Given the description of an element on the screen output the (x, y) to click on. 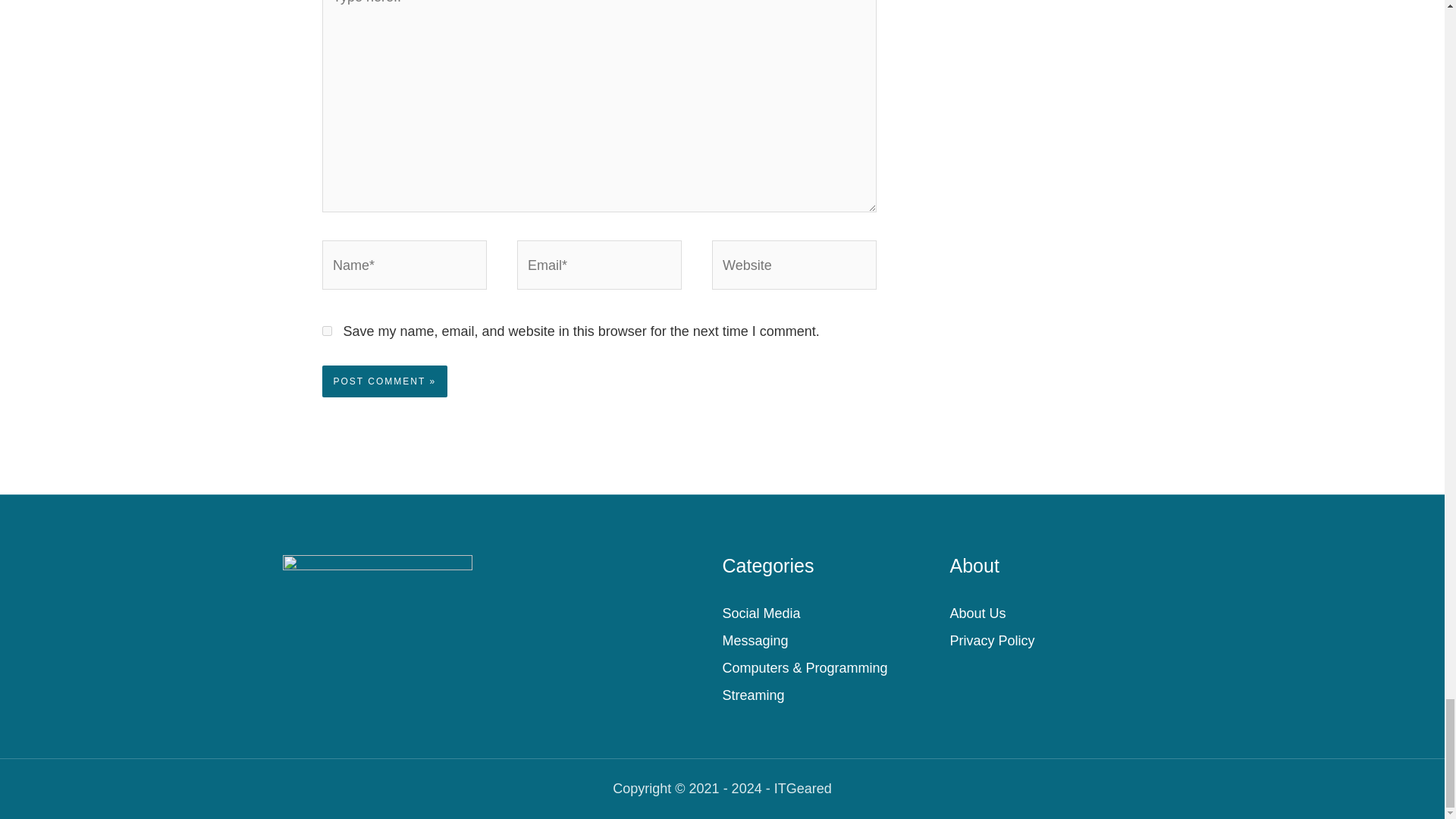
yes (326, 330)
